Given the description of an element on the screen output the (x, y) to click on. 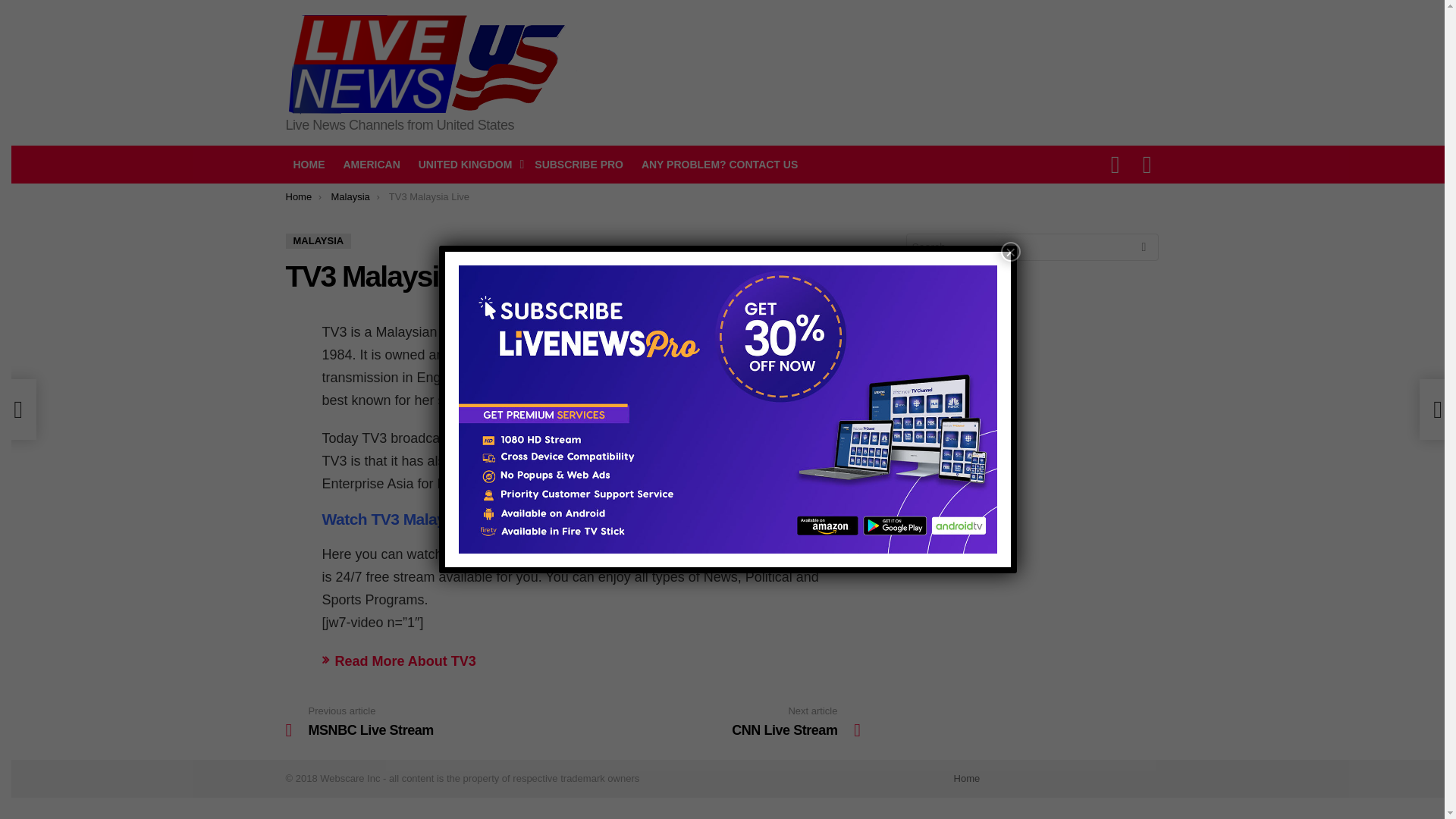
Read More About TV3 (398, 661)
Advertisement (428, 721)
AMERICAN (1031, 624)
ANY PROBLEM? CONTACT US (370, 164)
UNITED KINGDOM (719, 164)
Home (467, 164)
MALAYSIA (298, 196)
SUBSCRIBE PRO (317, 240)
Home (578, 164)
SEARCH (967, 778)
HOME (1143, 248)
Malaysia (716, 721)
Search for: (308, 164)
